Given the description of an element on the screen output the (x, y) to click on. 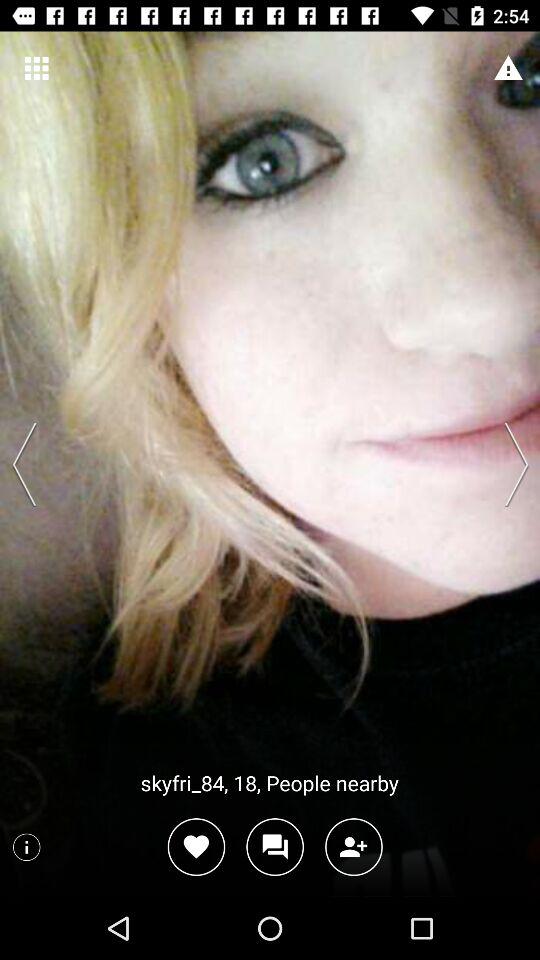
click the item below the skyfri_84 18 people (196, 846)
